Given the description of an element on the screen output the (x, y) to click on. 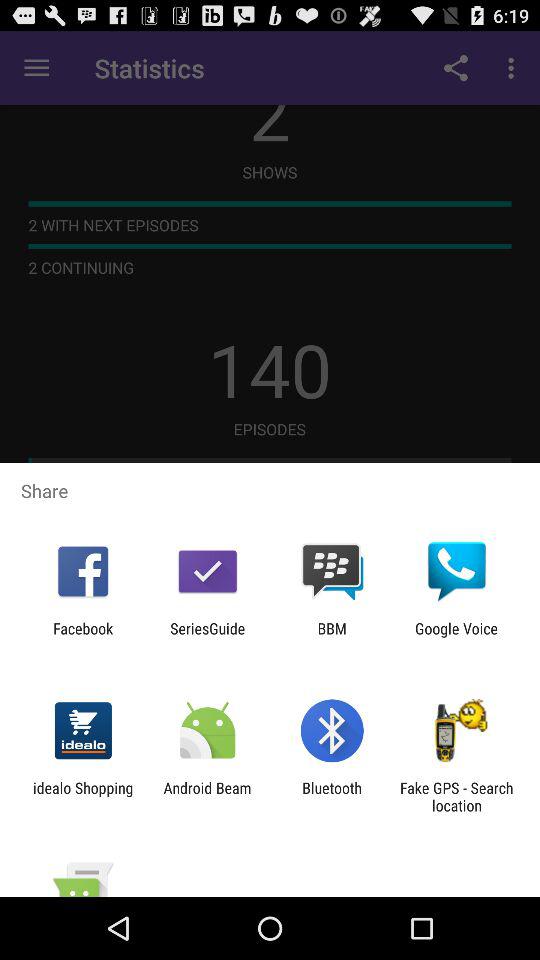
launch icon to the left of the seriesguide item (83, 637)
